Given the description of an element on the screen output the (x, y) to click on. 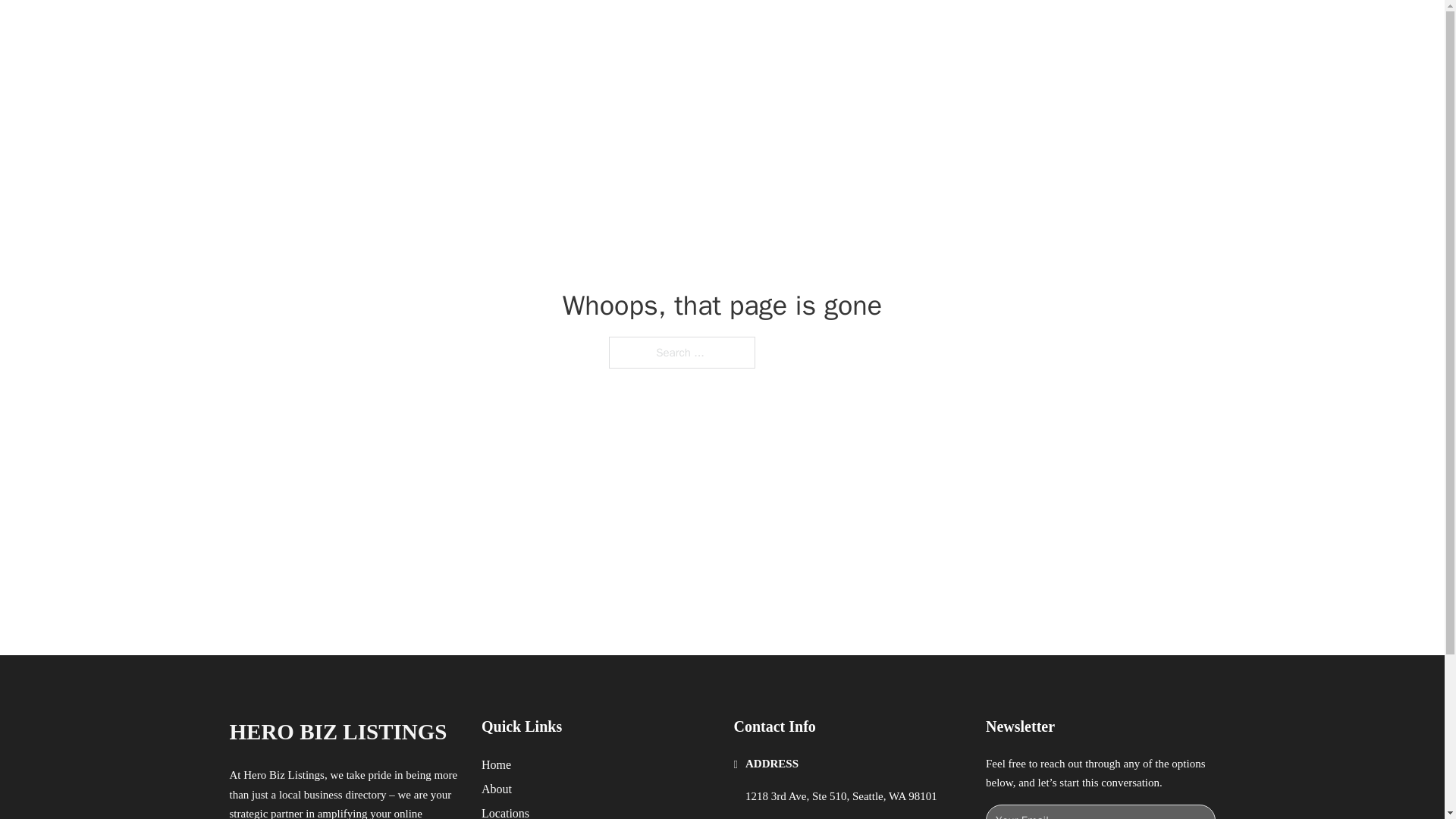
HOME (919, 29)
HERO BIZ LISTINGS (337, 732)
Home (496, 764)
HERO BIZ LISTINGS (408, 28)
LOCATIONS (990, 29)
Locations (505, 811)
About (496, 788)
